Given the description of an element on the screen output the (x, y) to click on. 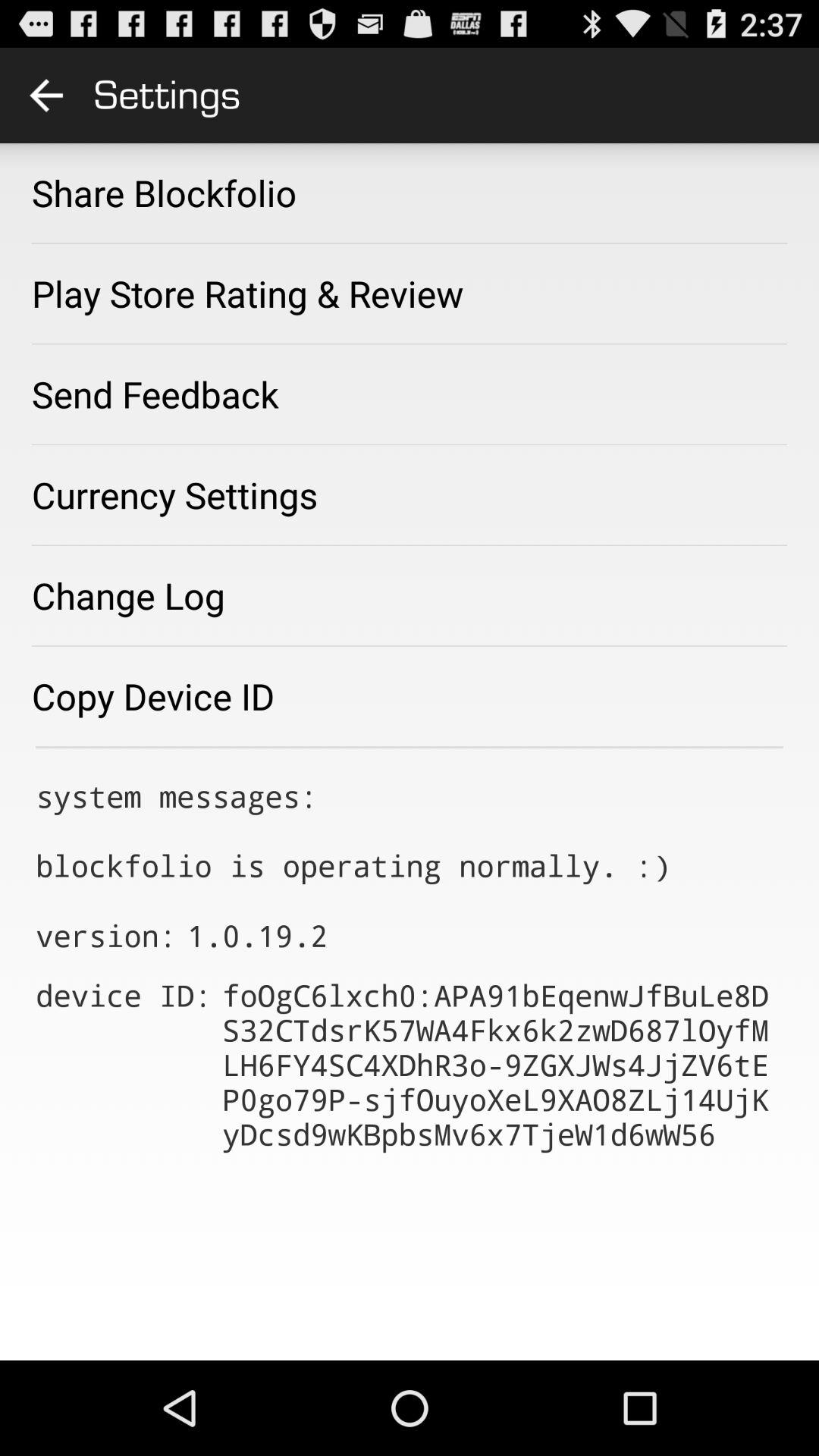
turn on app above the play store rating item (163, 192)
